Given the description of an element on the screen output the (x, y) to click on. 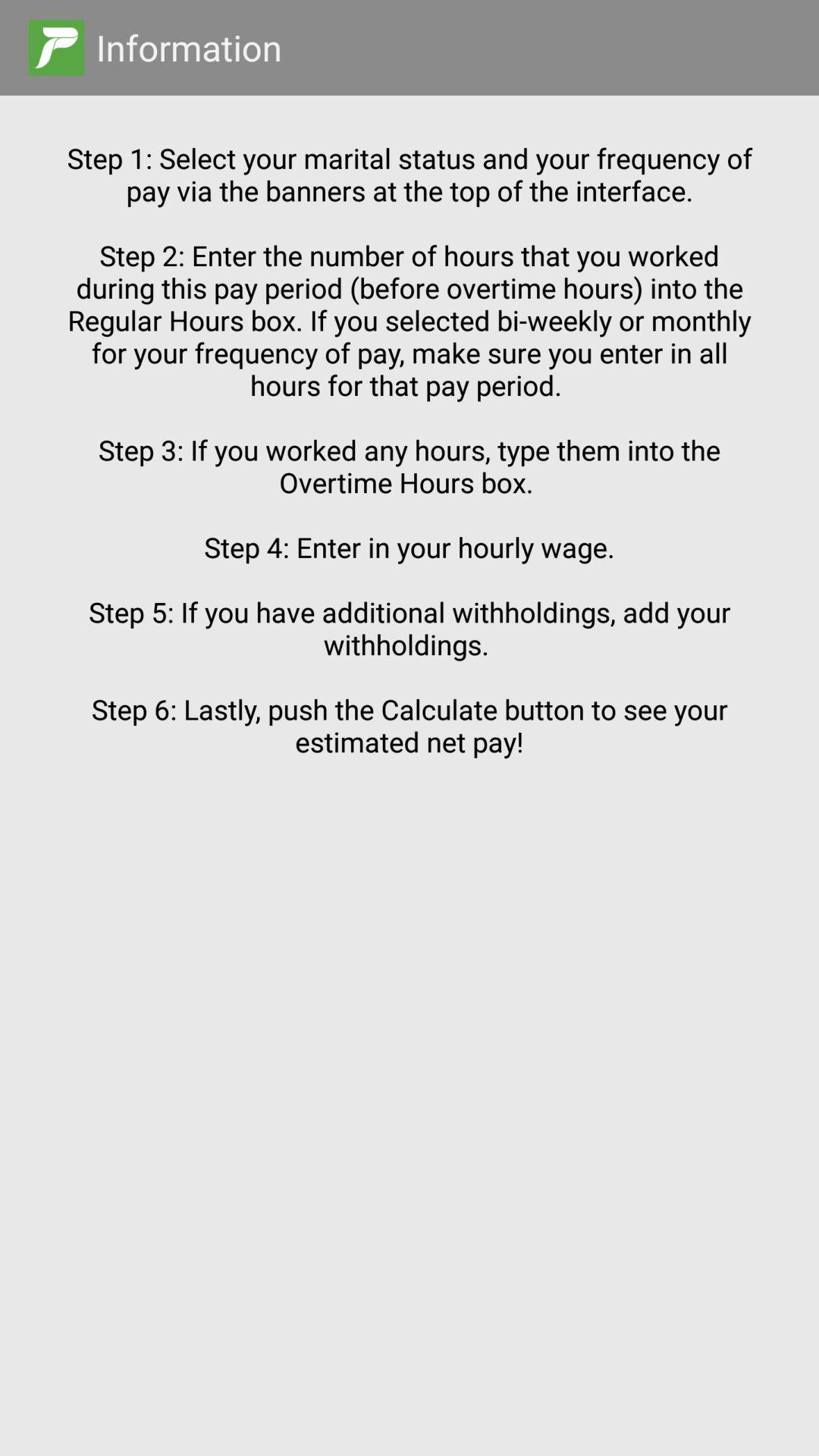
open item at the center (409, 747)
